Given the description of an element on the screen output the (x, y) to click on. 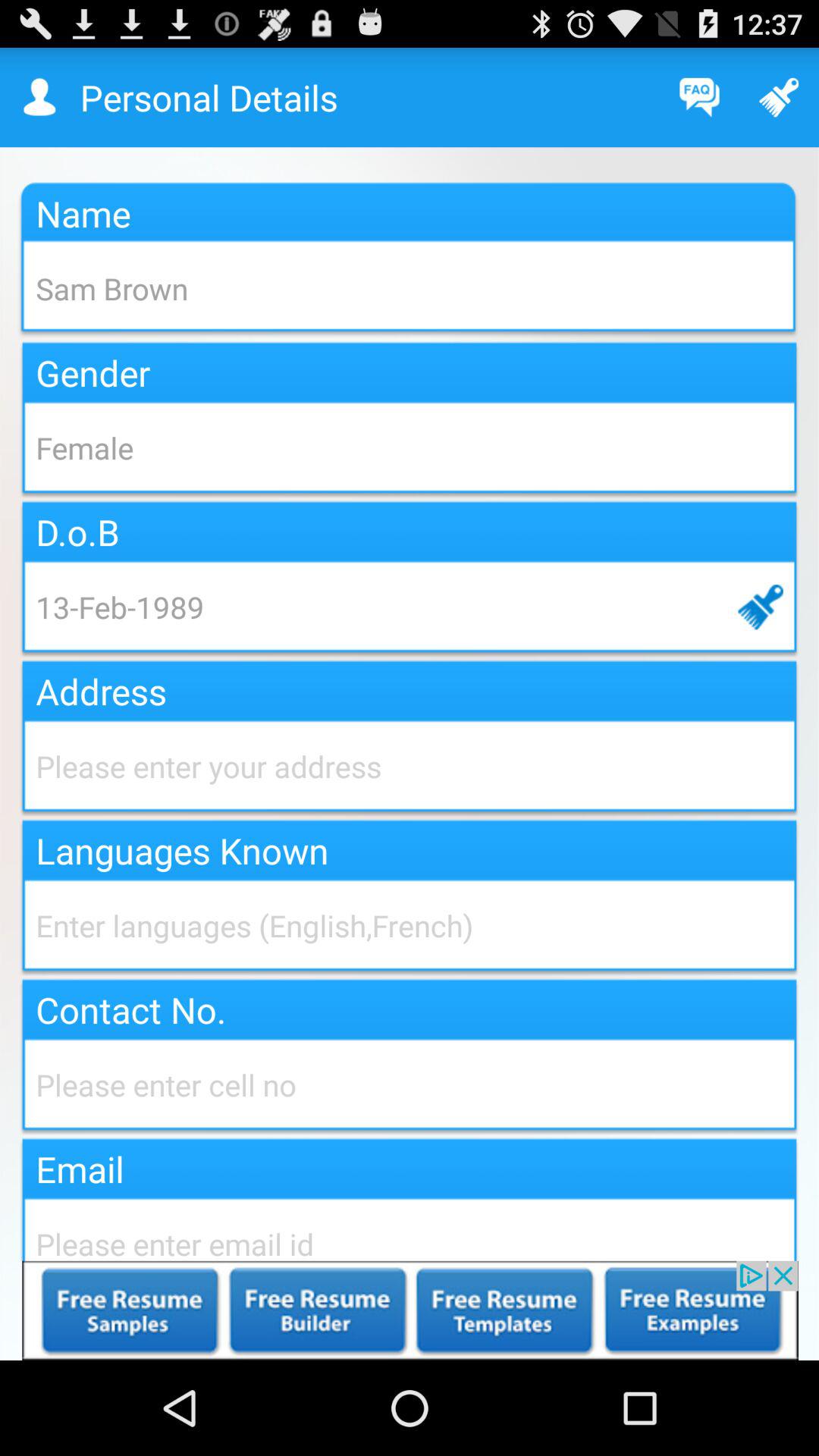
show faq (699, 97)
